Given the description of an element on the screen output the (x, y) to click on. 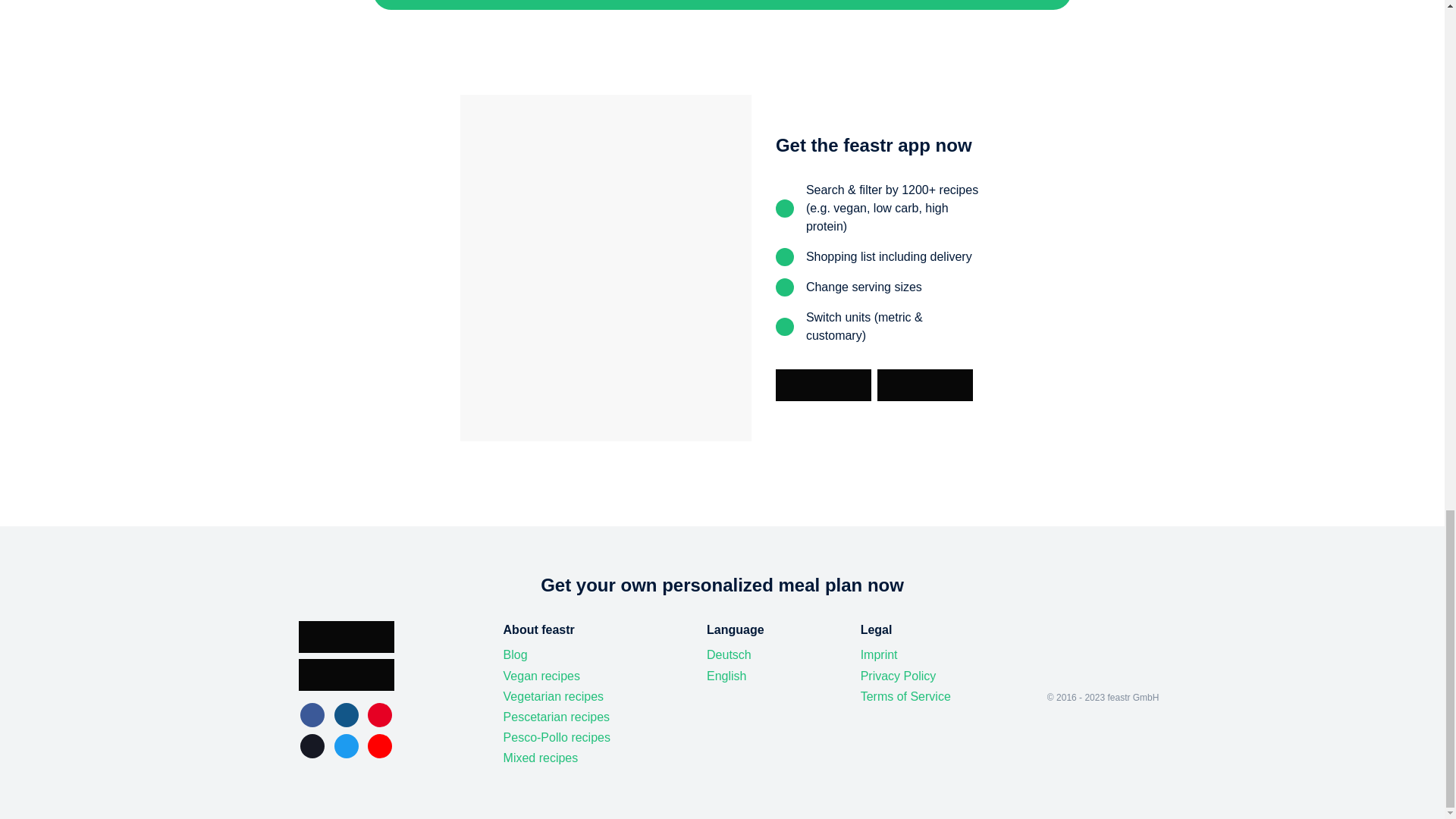
Vegetarian recipes (553, 696)
Terms of Service (905, 696)
Imprint (879, 655)
Pescetarian recipes (556, 717)
Mixed recipes (540, 758)
Deutsch (728, 655)
Vegan recipes (541, 676)
Blog (515, 655)
English (725, 676)
Pesco-Pollo recipes (556, 737)
